Given the description of an element on the screen output the (x, y) to click on. 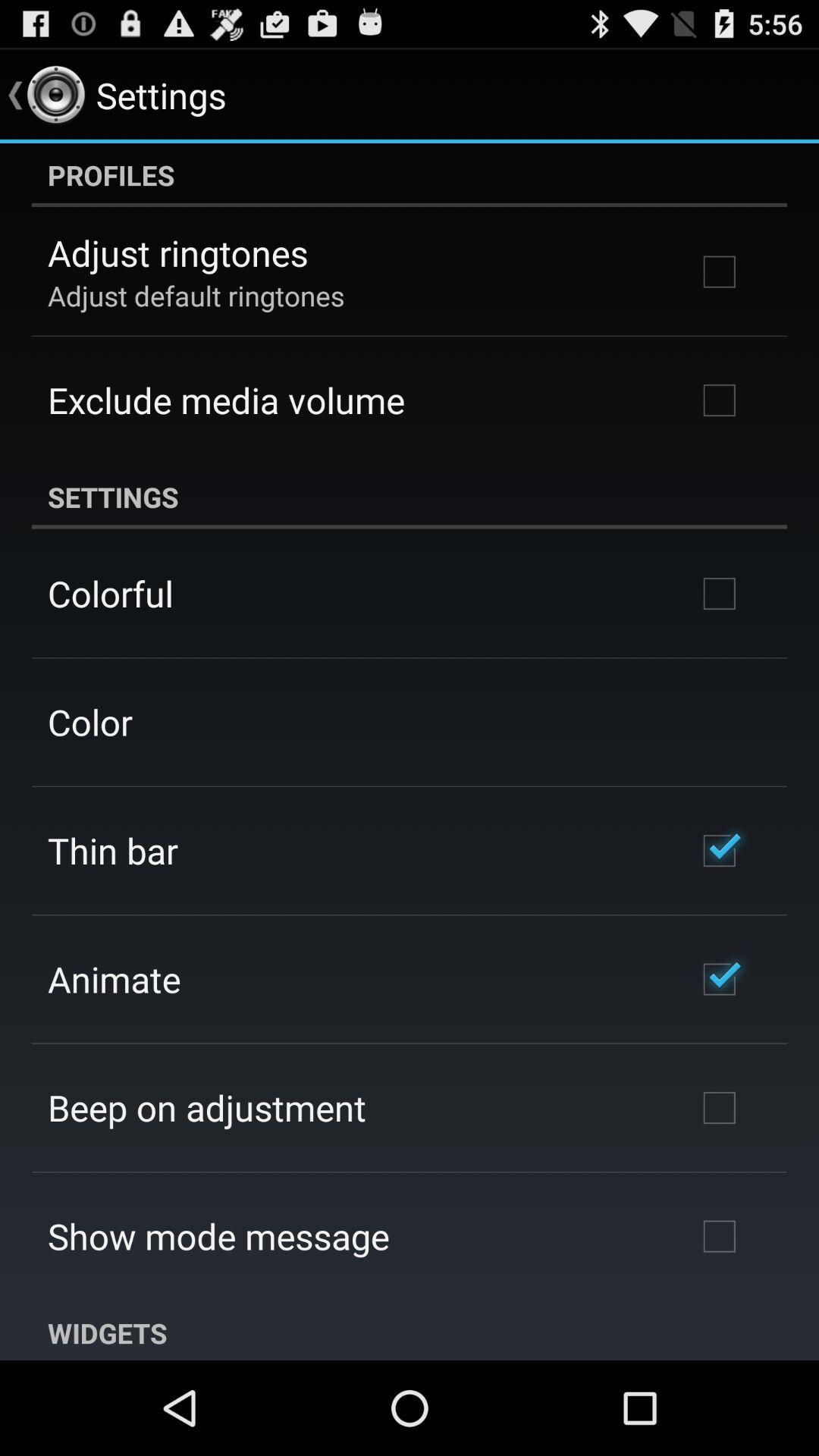
turn on app above color (110, 593)
